Given the description of an element on the screen output the (x, y) to click on. 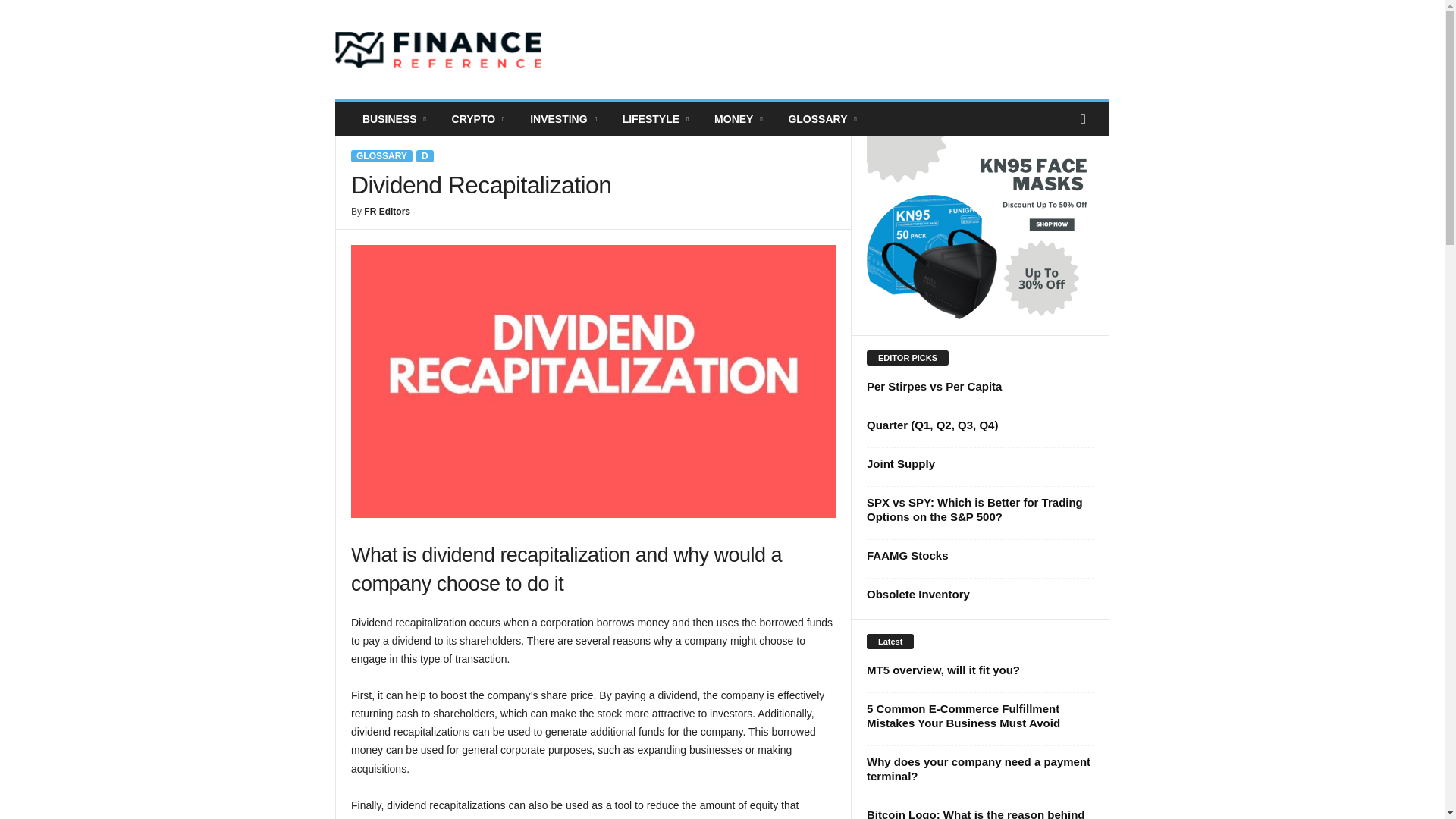
BUSINESS (395, 118)
Finance Reference (437, 49)
CRYPTO (480, 118)
